Given the description of an element on the screen output the (x, y) to click on. 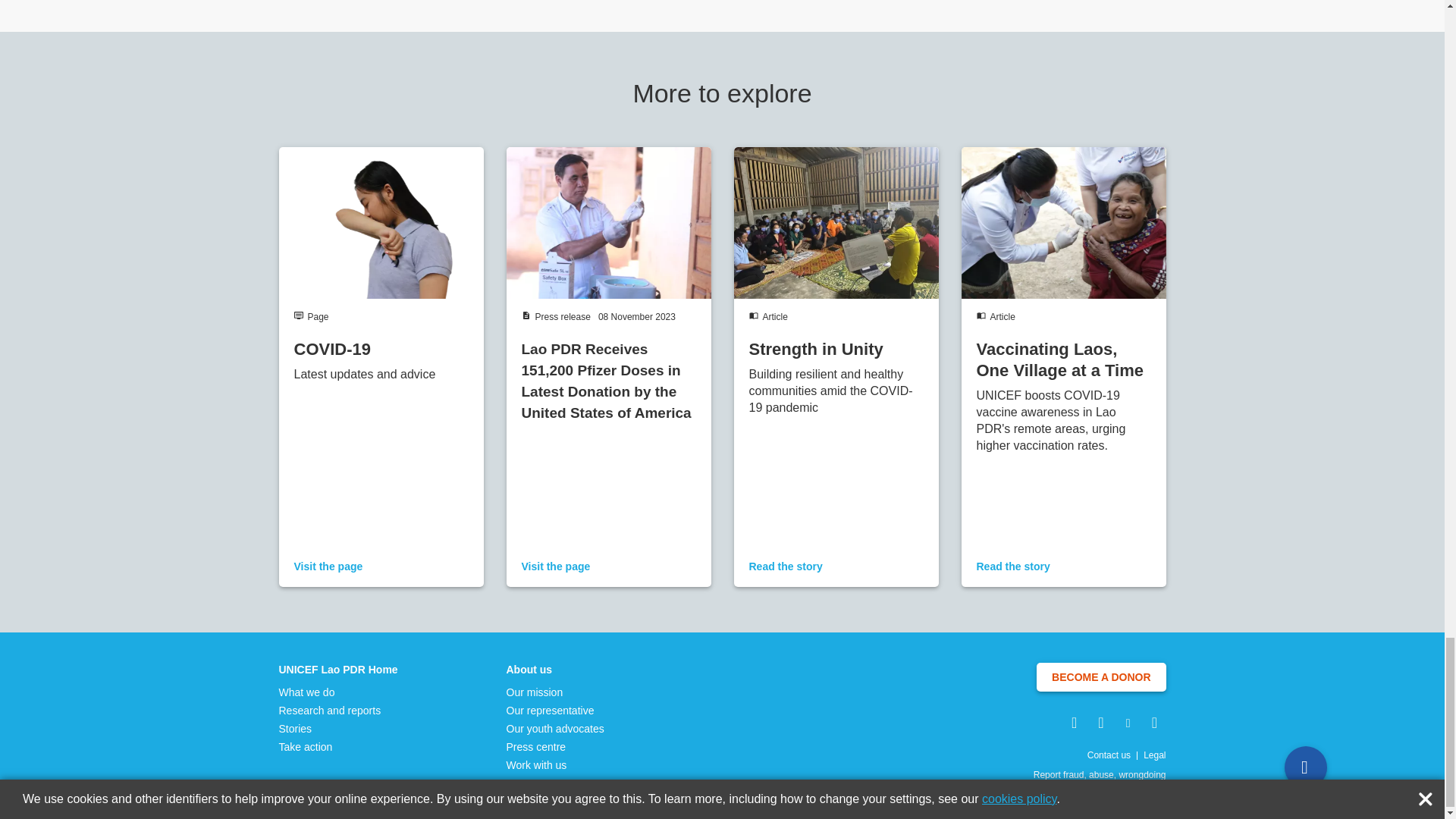
UNICEF Lao PDR Home (338, 669)
